Given the description of an element on the screen output the (x, y) to click on. 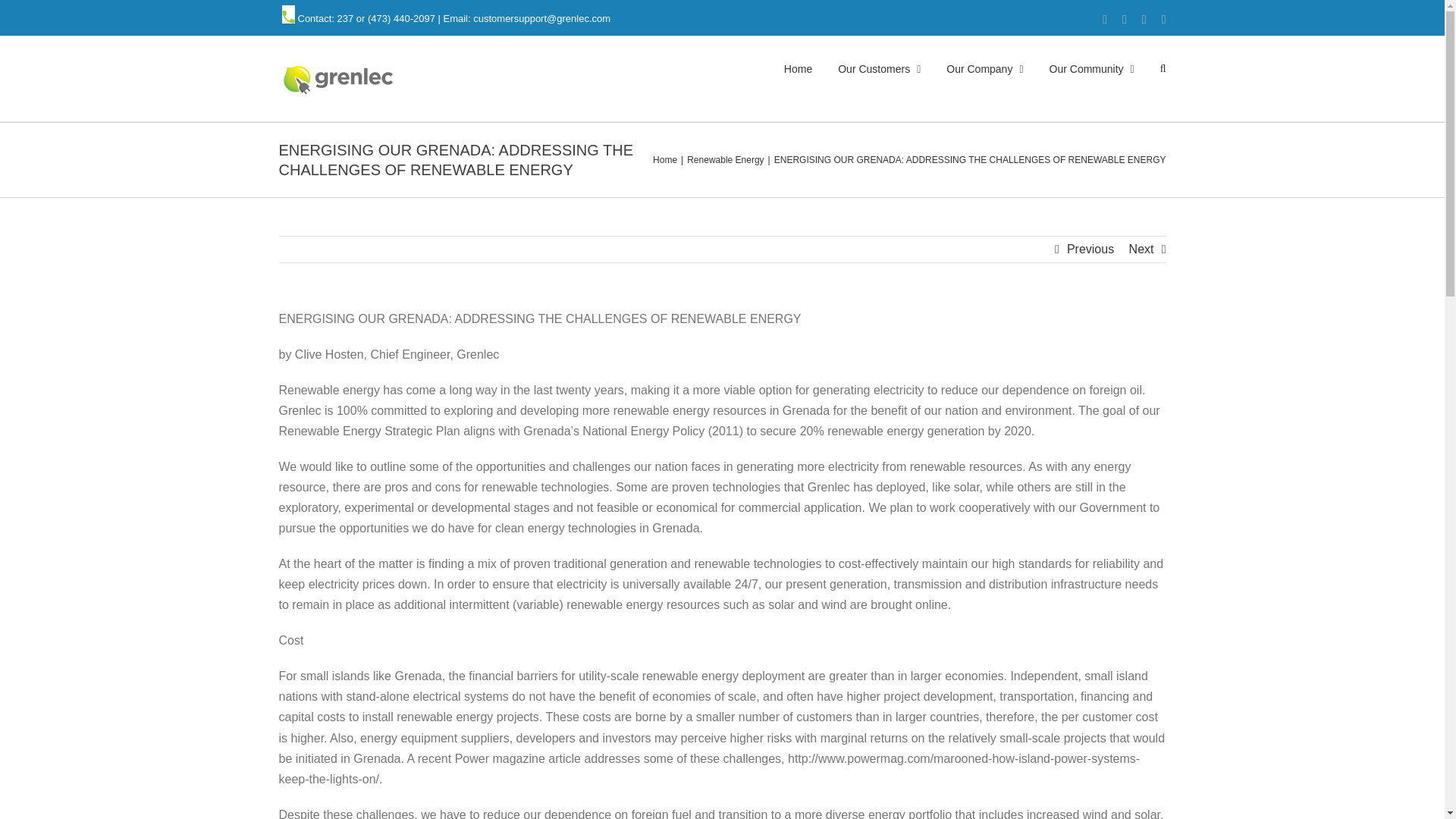
Our Company (984, 67)
Our Customers (879, 67)
Our Community (1091, 67)
